Given the description of an element on the screen output the (x, y) to click on. 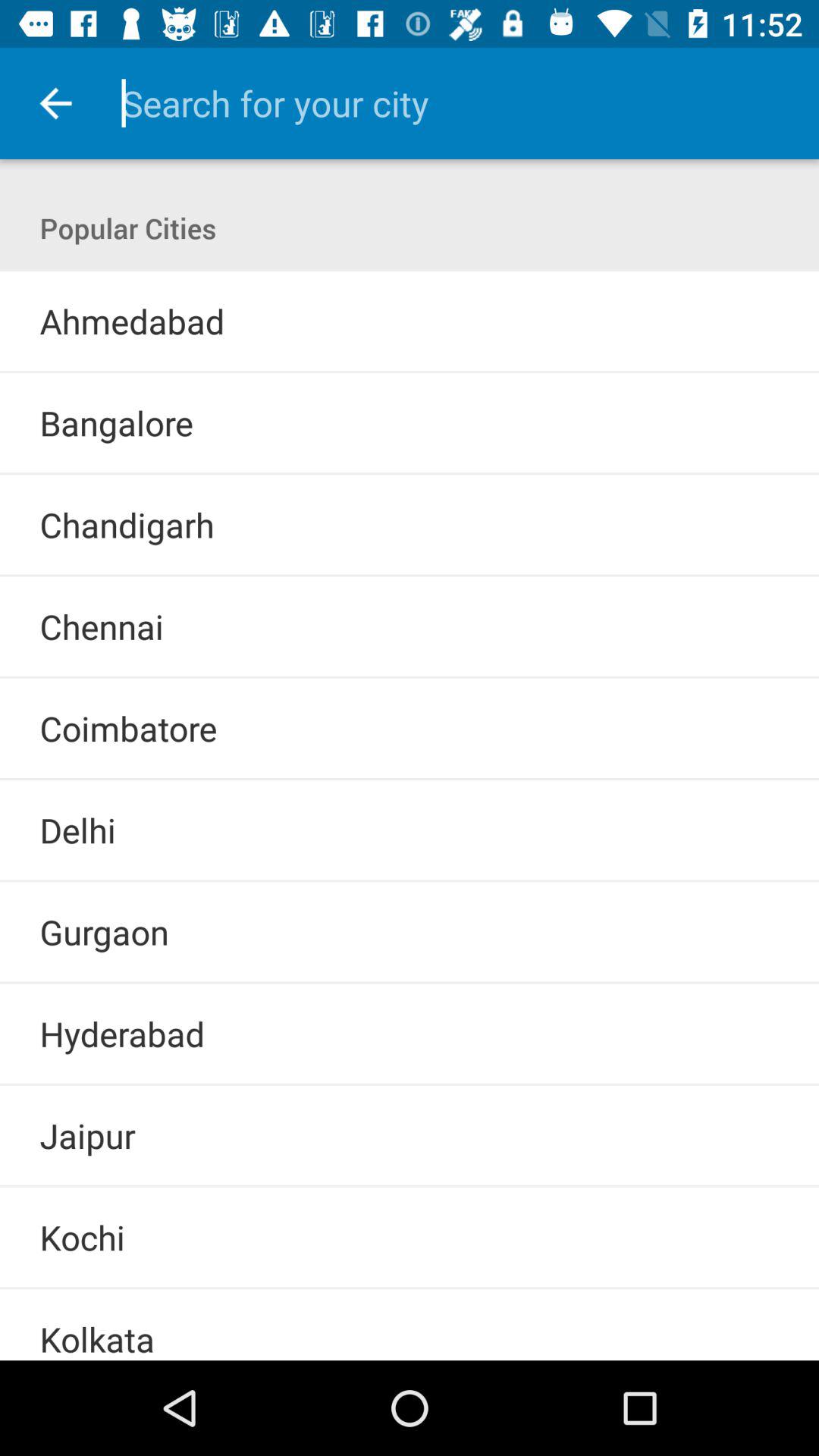
click bangalore icon (116, 422)
